Given the description of an element on the screen output the (x, y) to click on. 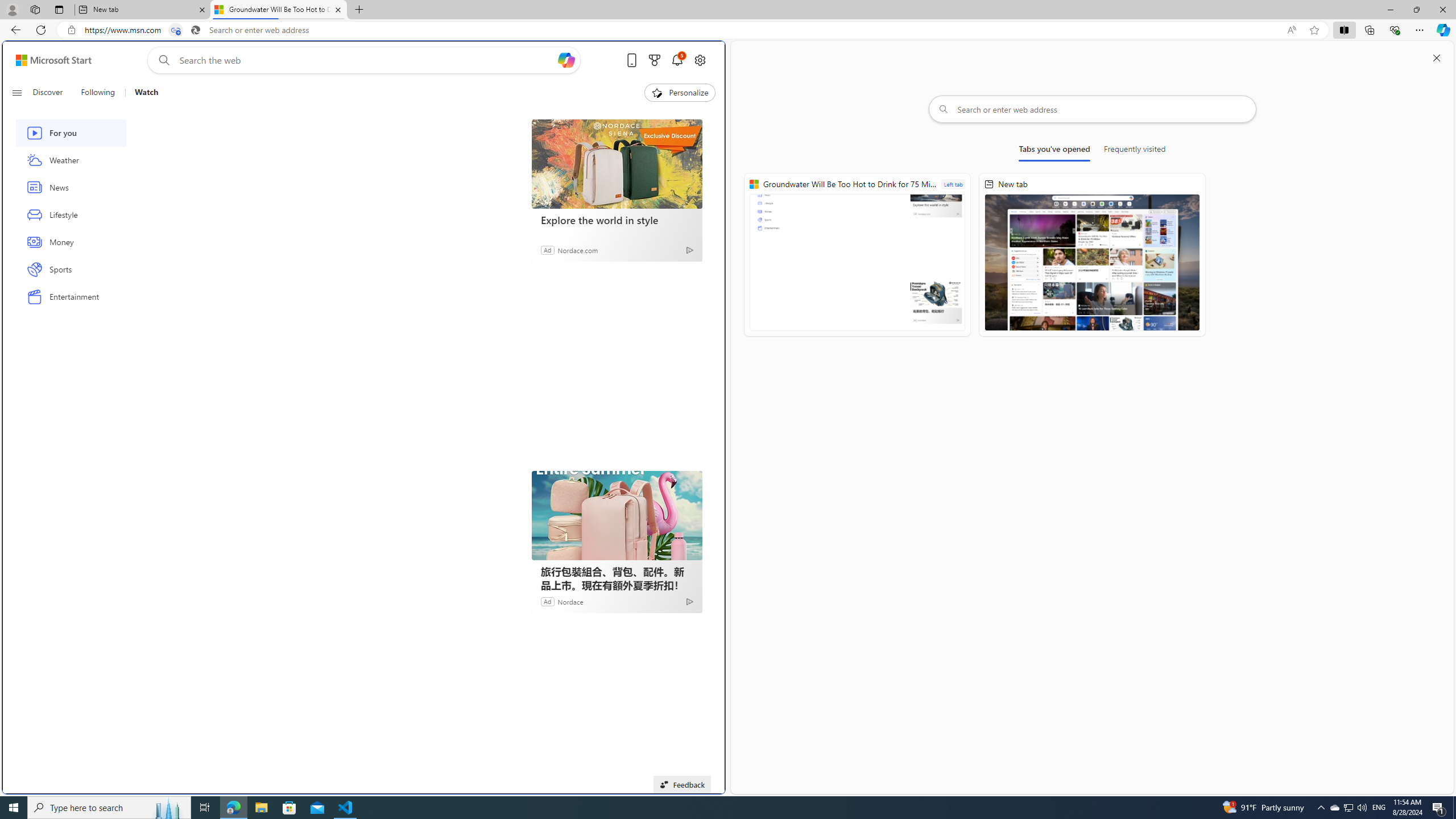
Explore the world in style (616, 219)
Skip to footer (46, 59)
Settings and more (Alt+F) (1419, 29)
Ad (547, 601)
Refresh (40, 29)
Browser essentials (1394, 29)
Back (13, 29)
Ad Choice (689, 601)
Add this page to favorites (Ctrl+D) (1314, 29)
Nordace.com (577, 249)
Open Copilot (565, 59)
Notifications (676, 60)
Discover (52, 92)
